Given the description of an element on the screen output the (x, y) to click on. 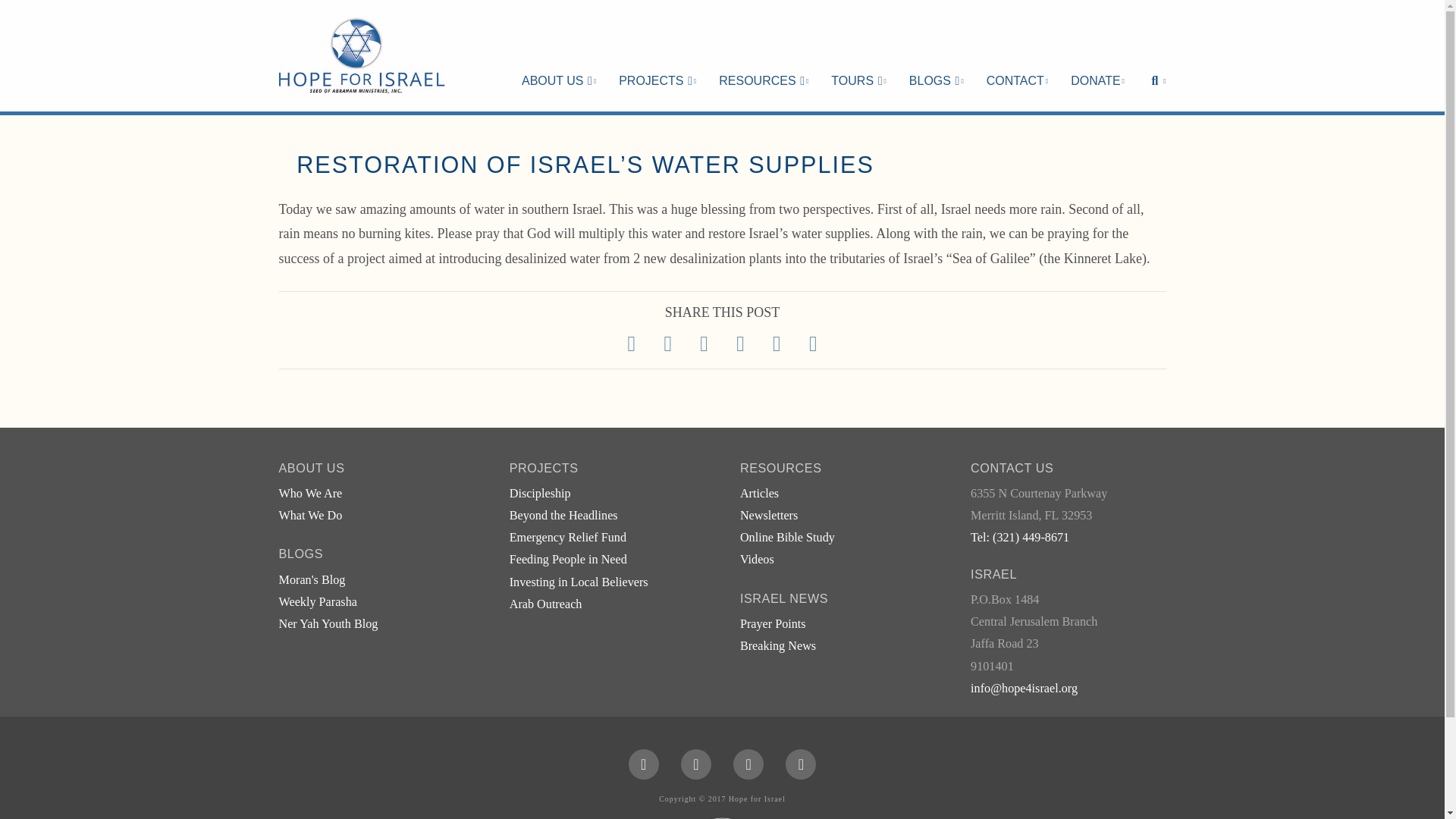
TOURS (857, 54)
CONTACT (1017, 54)
RESOURCES (763, 54)
BLOGS (936, 54)
ABOUT US (559, 54)
PROJECTS (657, 54)
DONATE (1097, 54)
Instagram (800, 764)
Facebook (643, 764)
YouTube (747, 764)
